Given the description of an element on the screen output the (x, y) to click on. 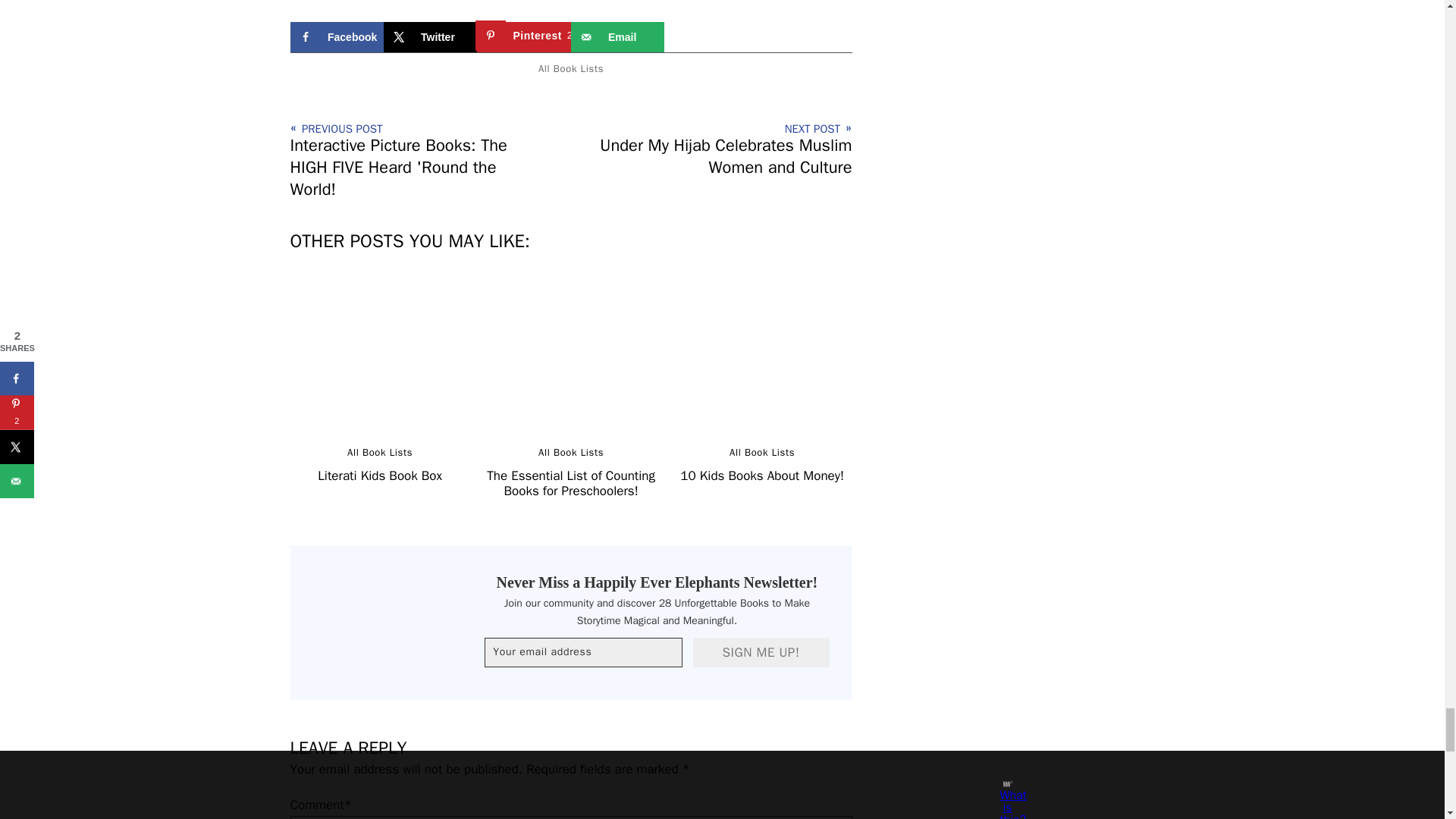
Share on Facebook (335, 37)
Save to Pinterest (523, 37)
Share on X (430, 37)
Send over email (616, 37)
